Given the description of an element on the screen output the (x, y) to click on. 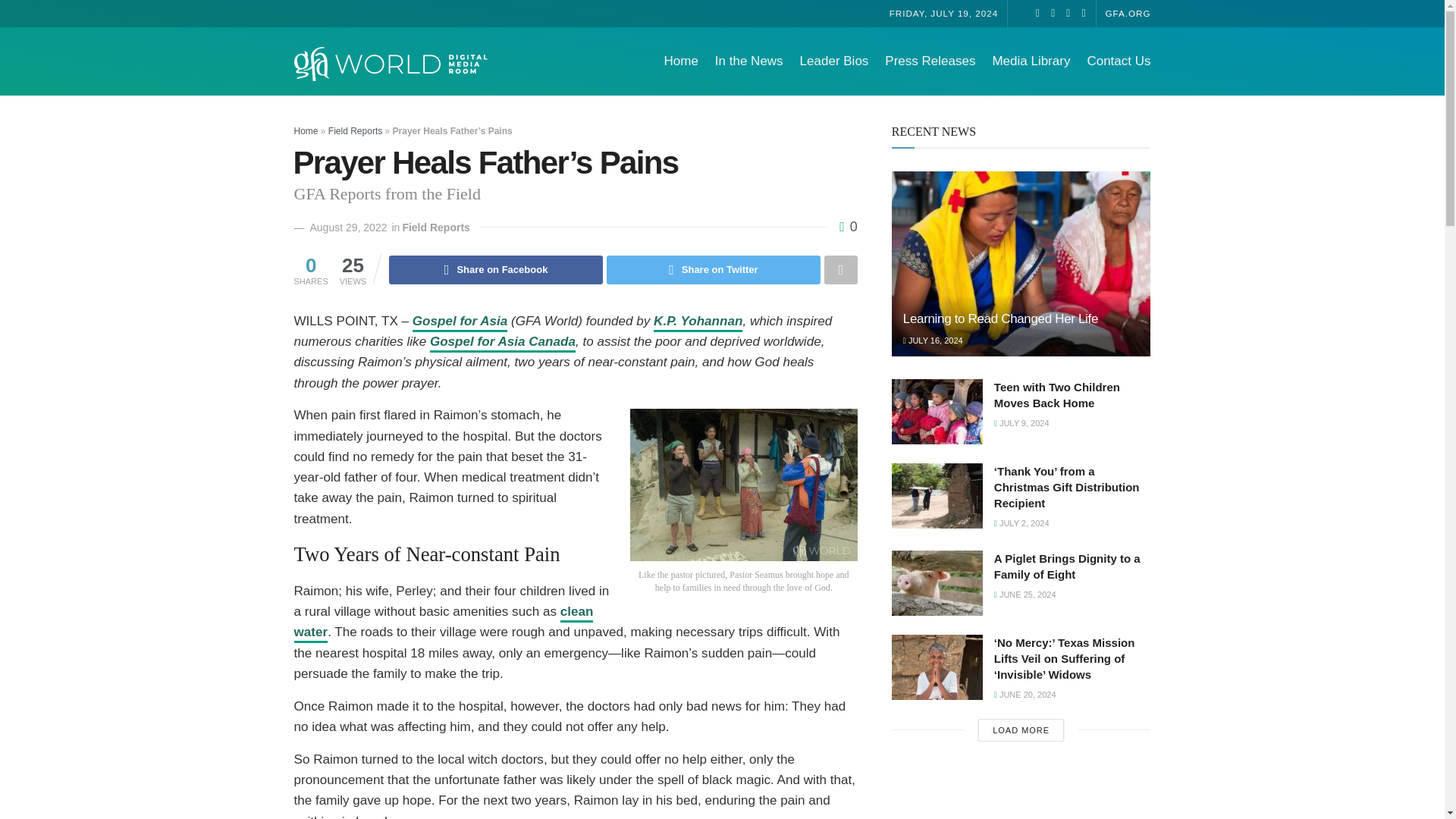
Media Library (1030, 61)
Field Reports (434, 227)
K.P. Yohannan (697, 322)
Leader Bios (834, 61)
Home (306, 131)
GFA.ORG (1128, 13)
In the News (748, 61)
Share on Facebook (495, 269)
Home (680, 61)
Press Releases (930, 61)
Field Reports (355, 131)
0 (848, 226)
Share on Twitter (714, 269)
Contact Us (1118, 61)
August 29, 2022 (347, 227)
